Given the description of an element on the screen output the (x, y) to click on. 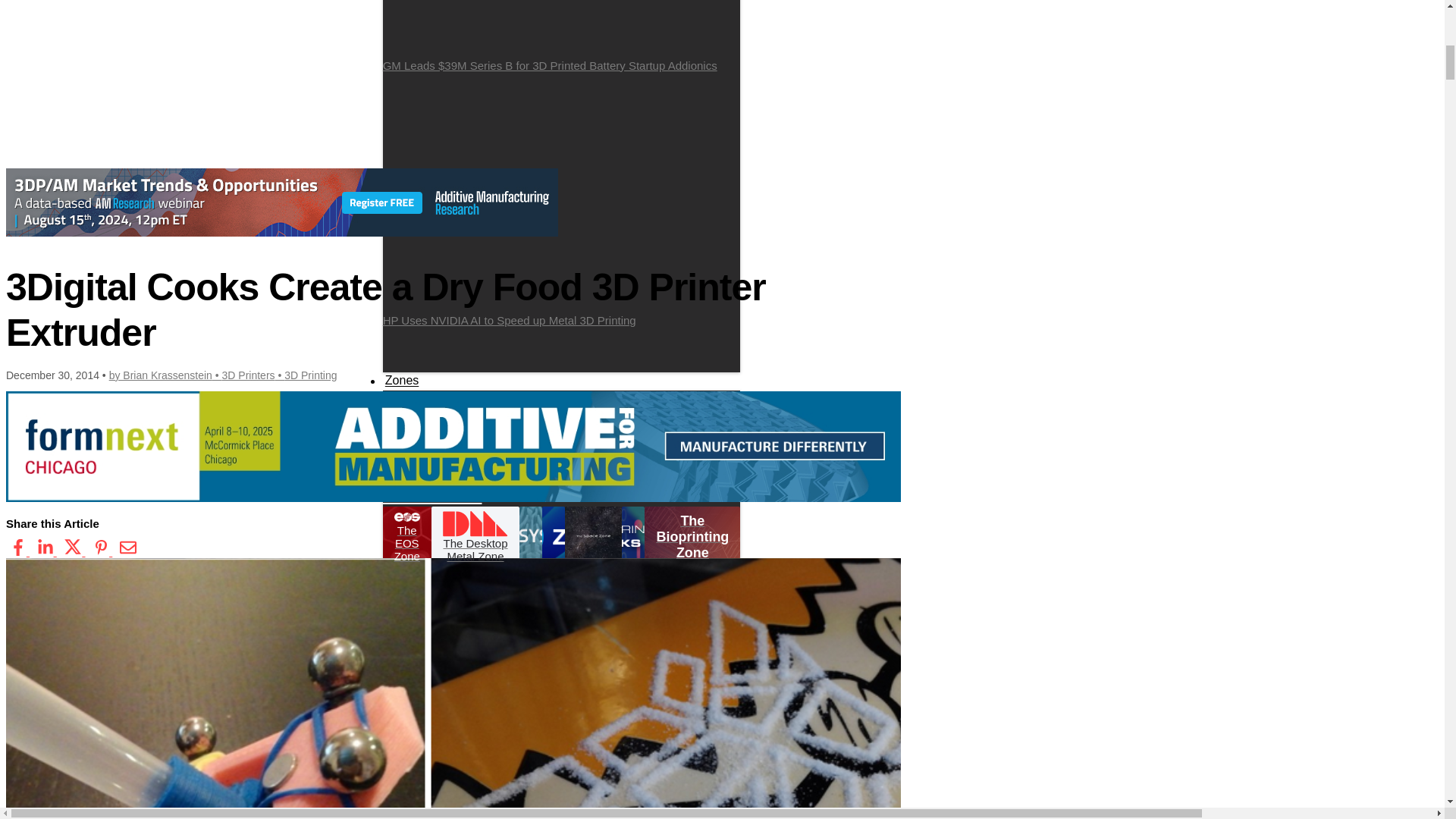
The 3D Systems Zone (649, 453)
The Space Zone (551, 473)
Desktop Metal Zone (540, 442)
3D Printing Stocks Zone (544, 484)
The Desktop Metal Zone (474, 536)
Zones (402, 380)
Bioprinting Zone (492, 453)
HP Uses NVIDIA AI to Speed up Metal 3D Printing (561, 203)
The HP Zone (433, 473)
EOS Zone (542, 431)
View All Zones (440, 431)
